Given the description of an element on the screen output the (x, y) to click on. 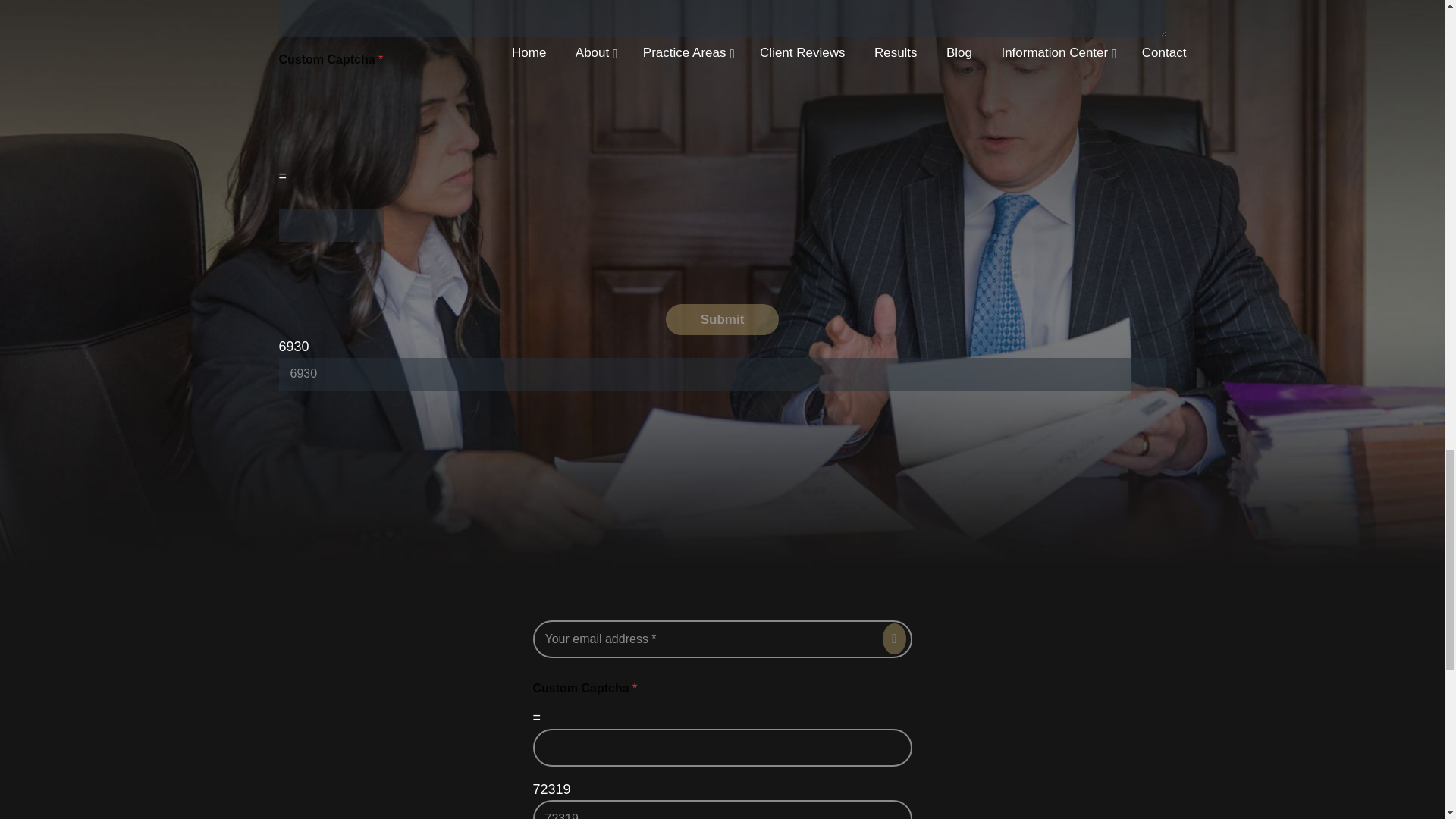
72319 (721, 809)
6930 (722, 373)
